Given the description of an element on the screen output the (x, y) to click on. 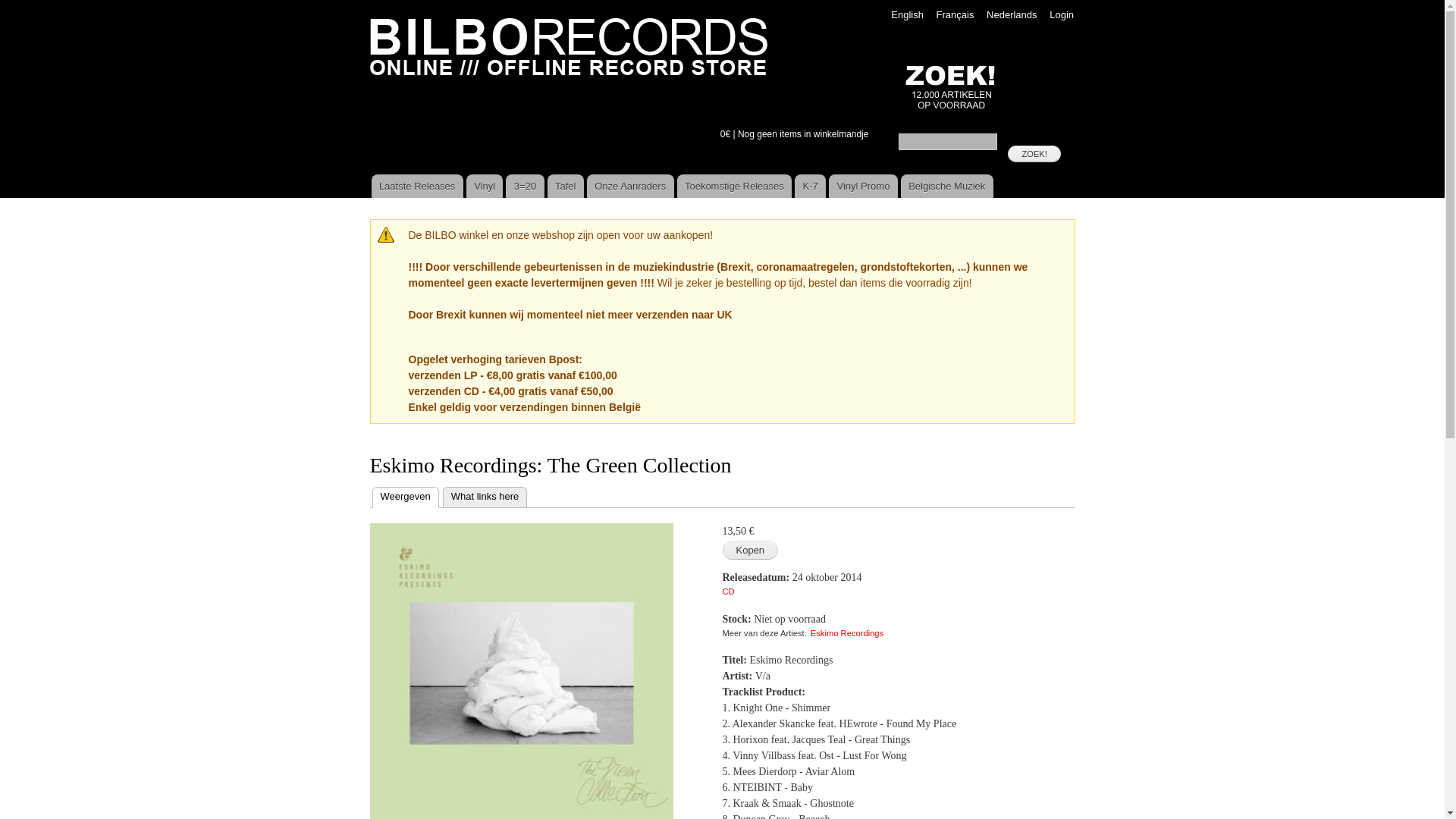
English Element type: text (907, 14)
Eskimo Recordings Element type: text (846, 632)
Vinyl Element type: text (484, 185)
Toekomstige Releases Element type: text (734, 185)
Laatste Releases Element type: text (417, 185)
CD Element type: text (727, 591)
Kopen Element type: text (749, 549)
Onze Aanraders Element type: text (630, 185)
Login Element type: text (1061, 14)
Home Element type: hover (569, 47)
What links here Element type: text (484, 496)
Vinyl Promo Element type: text (862, 185)
Overslaan en naar de algemene inhoud gaan Element type: text (696, 1)
Tafel Element type: text (565, 185)
K-7 Element type: text (809, 185)
ZOEK! Element type: text (1033, 153)
Weergeven
(active tab) Element type: text (404, 497)
Belgische Muziek Element type: text (946, 185)
3=20 Element type: text (524, 185)
Nederlands Element type: text (1011, 14)
